Given the description of an element on the screen output the (x, y) to click on. 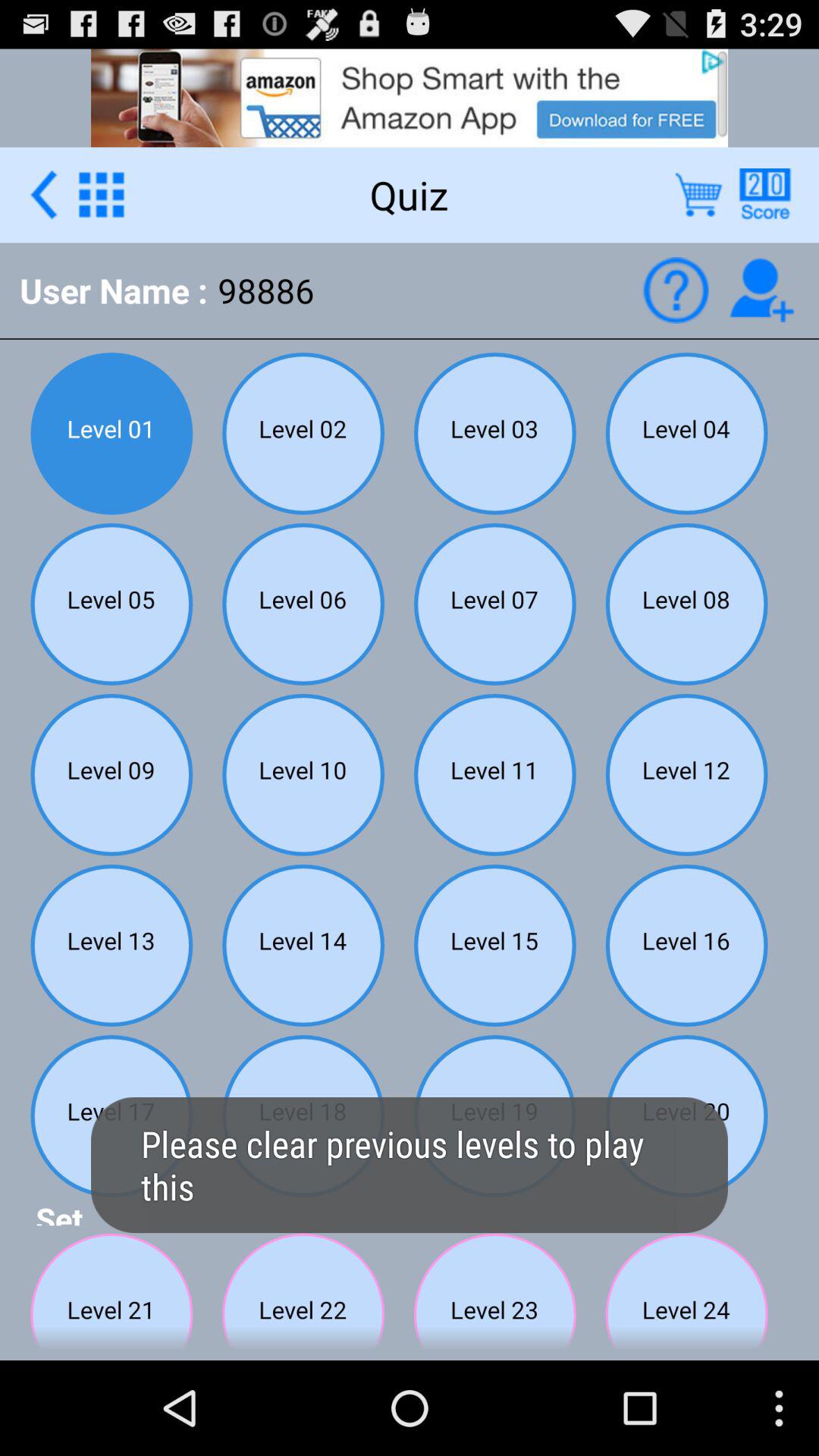
select the help icon (675, 290)
